Given the description of an element on the screen output the (x, y) to click on. 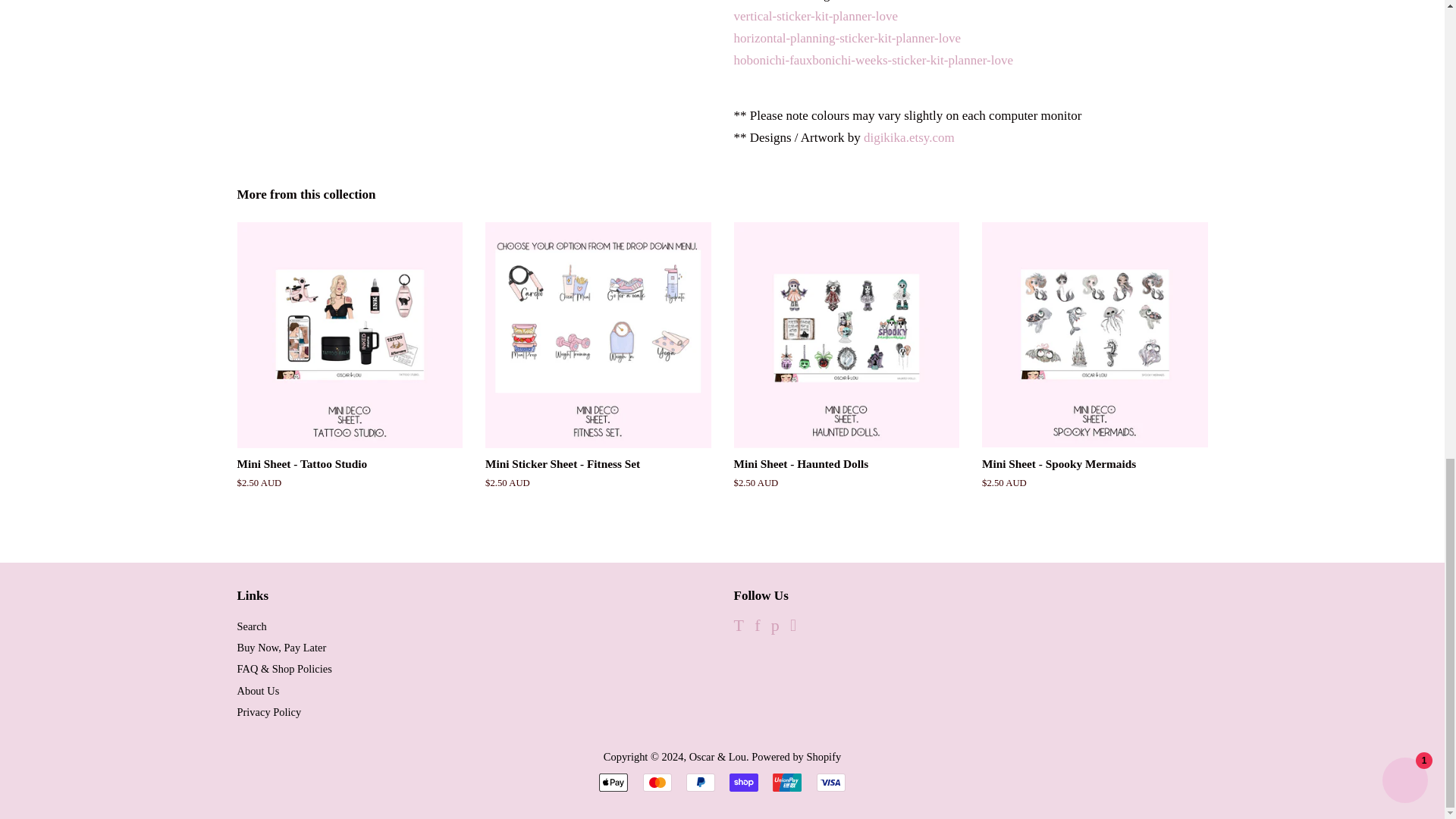
Shop Pay (743, 782)
Apple Pay (612, 782)
Union Pay (787, 782)
Mastercard (657, 782)
PayPal (699, 782)
Visa (830, 782)
